Given the description of an element on the screen output the (x, y) to click on. 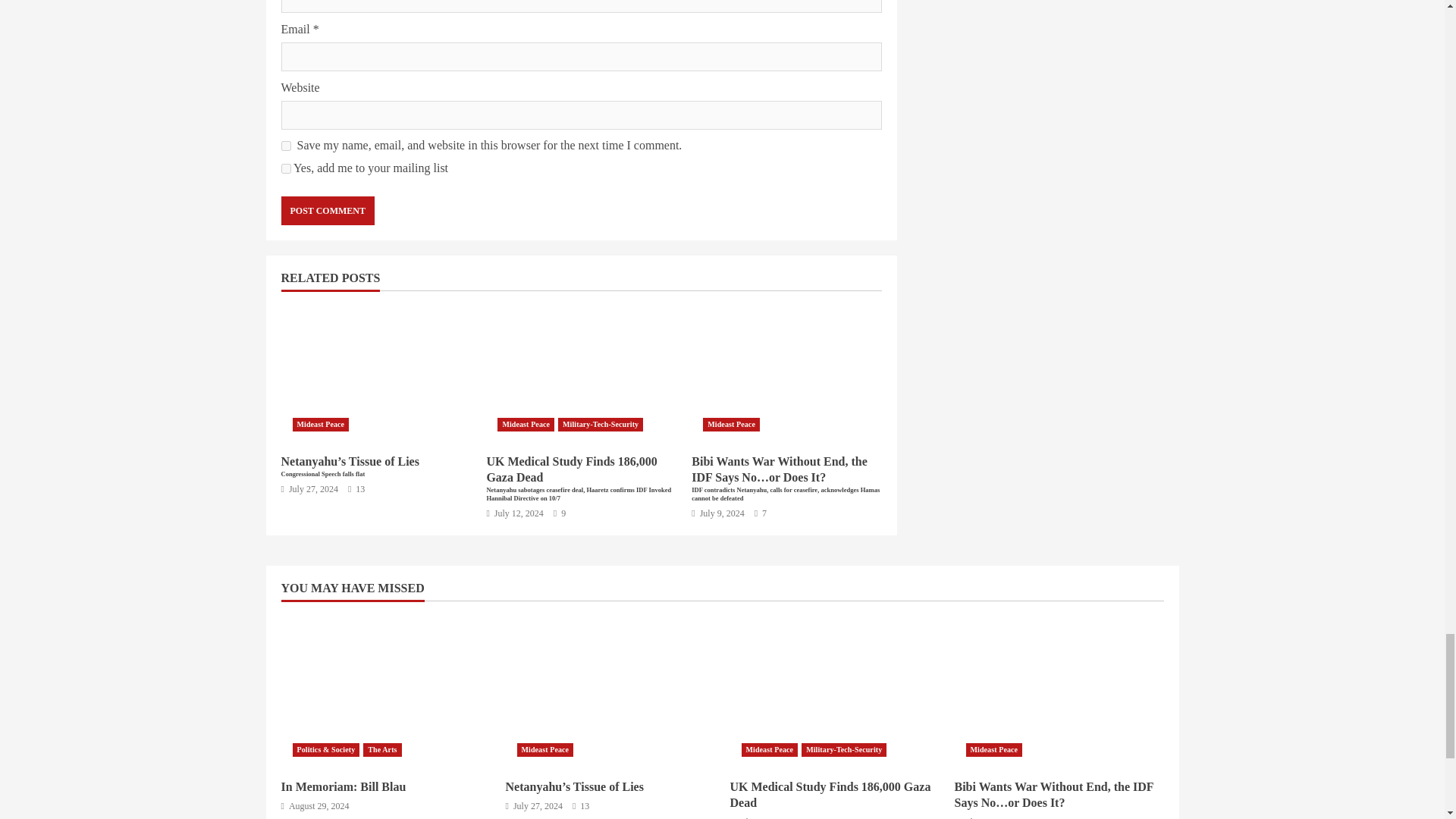
yes (285, 145)
1 (285, 168)
Post Comment (327, 210)
